Given the description of an element on the screen output the (x, y) to click on. 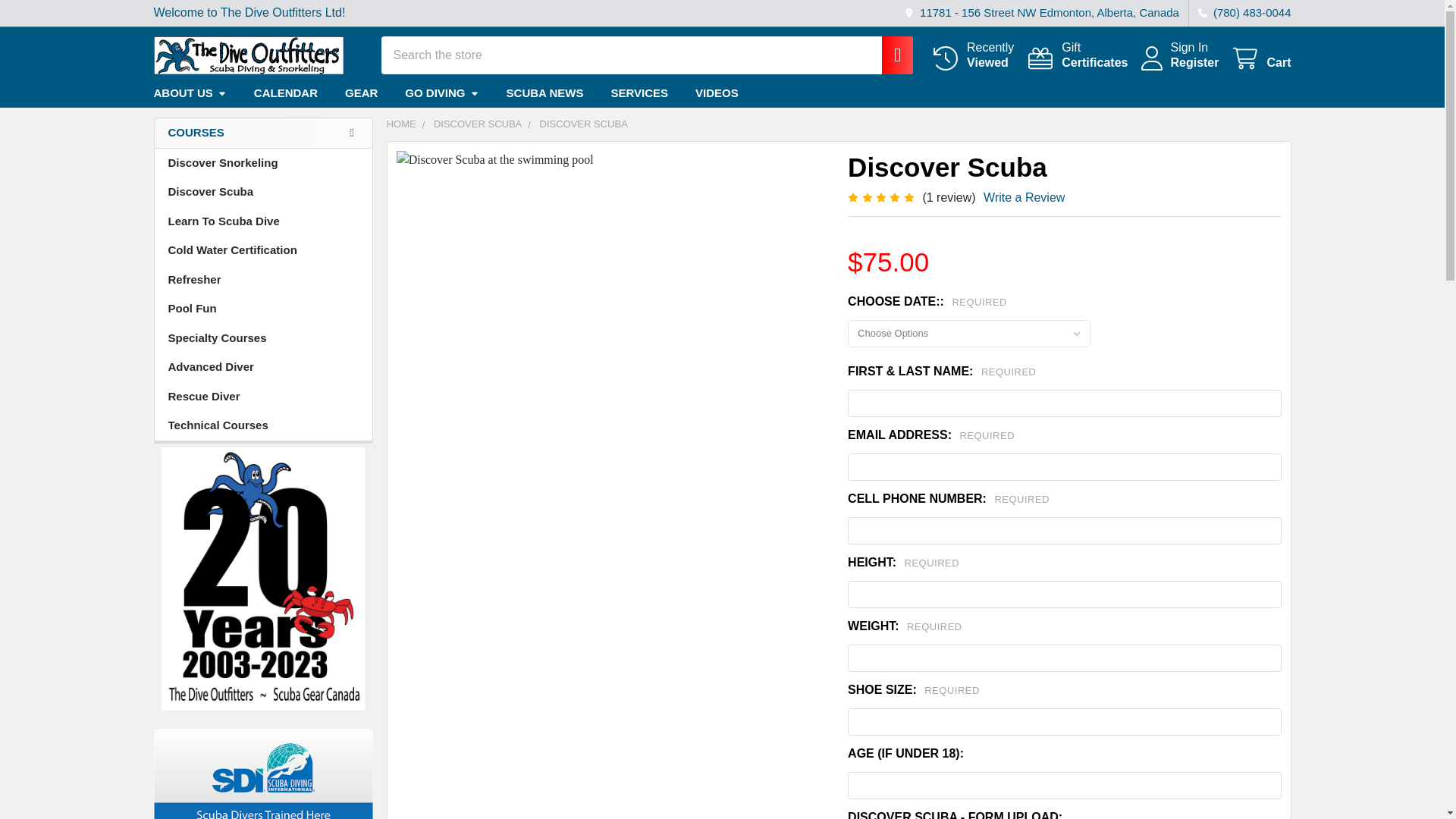
Search (889, 55)
Cart (1260, 58)
GO DIVING (441, 93)
Gift Certificates (1076, 55)
Search (889, 55)
Register (1194, 62)
Sign In (1189, 47)
Cart (1076, 55)
